Given the description of an element on the screen output the (x, y) to click on. 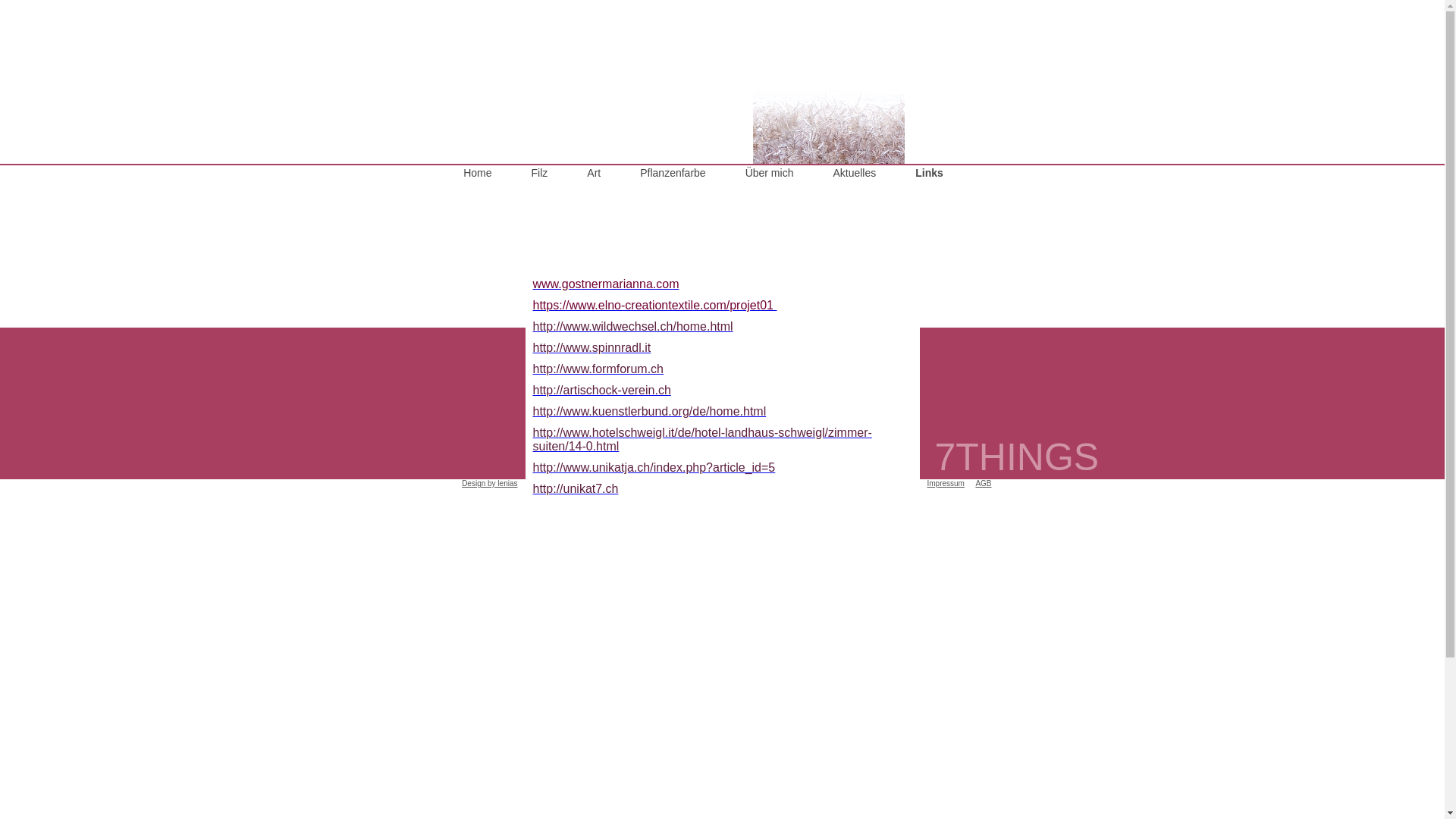
https://www.elno-creationtextile.com/projet01  Element type: text (654, 304)
Home Element type: text (477, 172)
Links Element type: text (929, 172)
http://www.kuenstlerbund.org/de/home.html Element type: text (648, 410)
http://unikat7.ch Element type: text (575, 488)
http://www.spinnradl.it Element type: text (591, 347)
Pflanzenfarbe Element type: text (672, 172)
www.gostnermarianna.com Element type: text (605, 283)
Filz Element type: text (539, 172)
Design by lenias Element type: text (489, 483)
http://www.wildwechsel.ch/home.html Element type: text (632, 326)
Impressum Element type: text (944, 483)
http://www.unikatja.ch/index.php?article_id=5 Element type: text (653, 467)
http://www.formforum.ch Element type: text (597, 368)
Art Element type: text (593, 172)
Aktuelles Element type: text (853, 172)
http://artischock-verein.ch Element type: text (601, 389)
AGB Element type: text (983, 483)
